Given the description of an element on the screen output the (x, y) to click on. 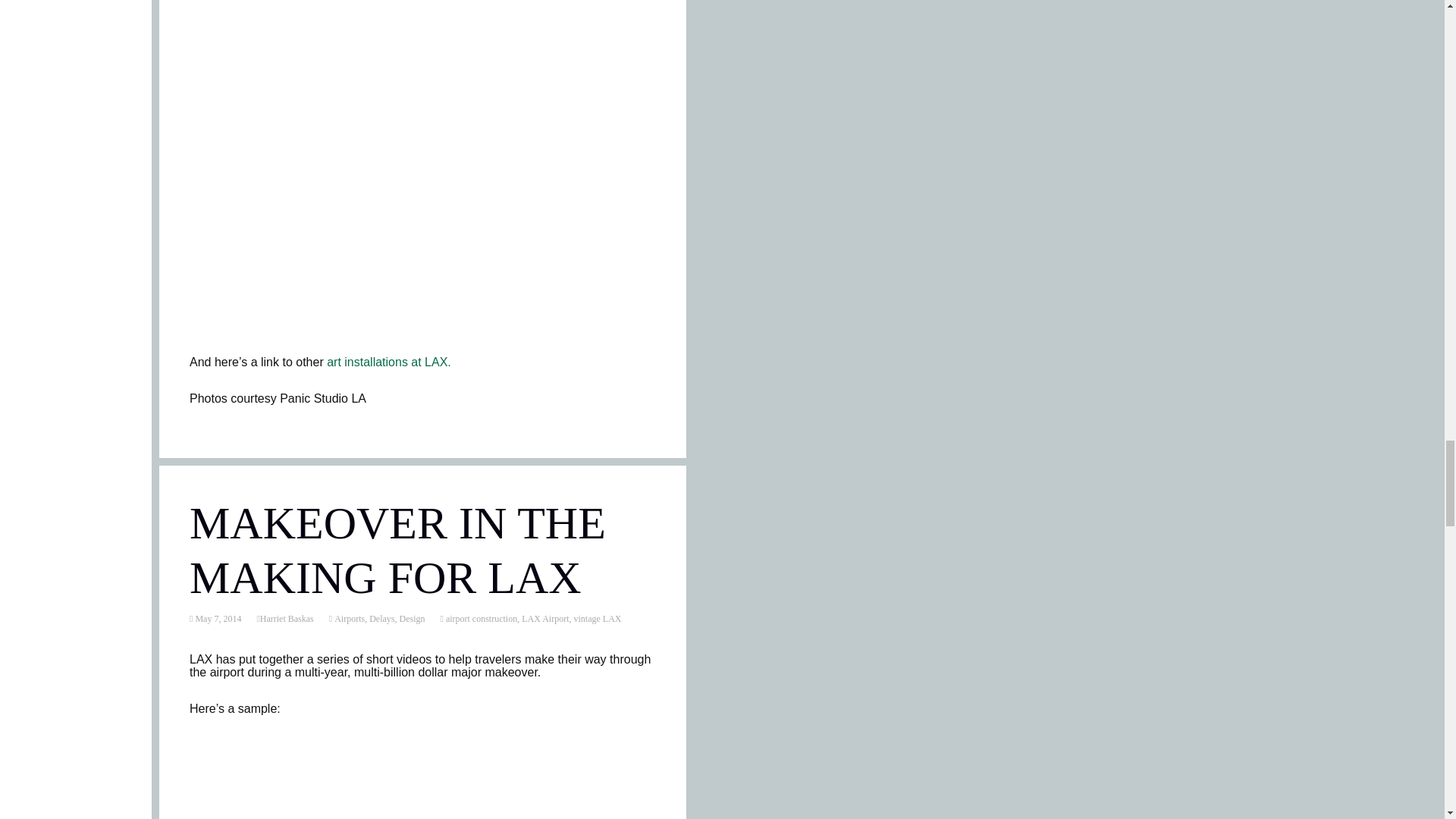
View all posts by Harriet Baskas (287, 618)
art installations at LAX. (388, 361)
MAKEOVER IN THE MAKING FOR LAX (397, 549)
Permalink to Makeover in the making for LAX (216, 618)
Harriet Baskas (287, 618)
Delays (381, 618)
Airports (348, 618)
May 7, 2014 (216, 618)
